Given the description of an element on the screen output the (x, y) to click on. 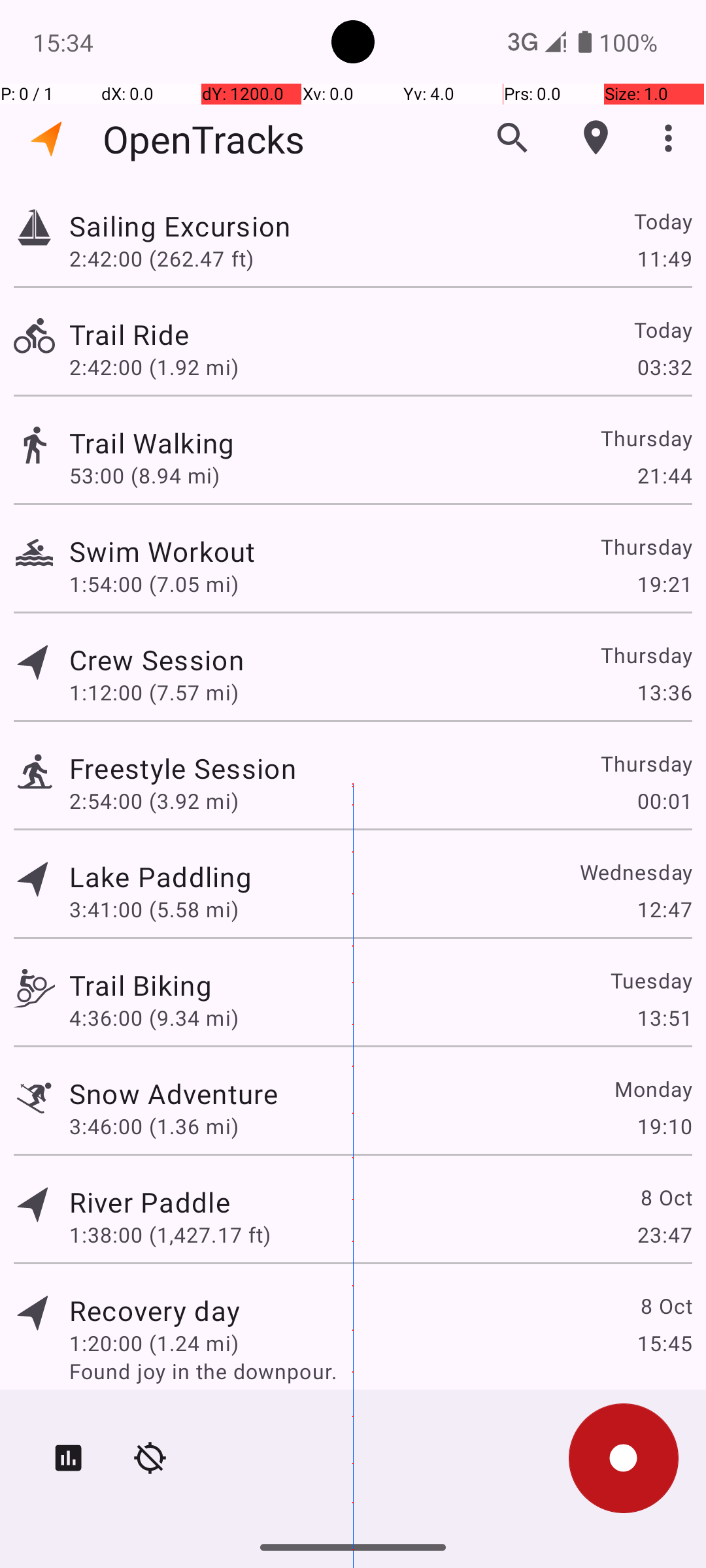
Record Element type: android.widget.ImageButton (623, 1458)
Track Element type: android.widget.ImageView (33, 227)
Sailing Excursion Element type: android.widget.TextView (179, 225)
Today Element type: android.widget.TextView (662, 221)
2:42:00 (262.47 ft) Element type: android.widget.TextView (161, 258)
11:49 Element type: android.widget.TextView (664, 258)
Trail Ride Element type: android.widget.TextView (128, 333)
2:42:00 (1.92 mi) Element type: android.widget.TextView (153, 366)
03:32 Element type: android.widget.TextView (664, 366)
Trail Walking Element type: android.widget.TextView (151, 442)
Thursday Element type: android.widget.TextView (645, 438)
53:00 (8.94 mi) Element type: android.widget.TextView (144, 475)
21:44 Element type: android.widget.TextView (664, 475)
Swim Workout Element type: android.widget.TextView (162, 550)
1:54:00 (7.05 mi) Element type: android.widget.TextView (153, 583)
19:21 Element type: android.widget.TextView (664, 583)
Crew Session Element type: android.widget.TextView (156, 659)
1:12:00 (7.57 mi) Element type: android.widget.TextView (153, 692)
13:36 Element type: android.widget.TextView (664, 692)
Freestyle Session Element type: android.widget.TextView (182, 767)
2:54:00 (3.92 mi) Element type: android.widget.TextView (153, 800)
00:01 Element type: android.widget.TextView (664, 800)
Lake Paddling Element type: android.widget.TextView (160, 876)
Wednesday Element type: android.widget.TextView (635, 871)
3:41:00 (5.58 mi) Element type: android.widget.TextView (153, 909)
12:47 Element type: android.widget.TextView (664, 909)
Trail Biking Element type: android.widget.TextView (140, 984)
Tuesday Element type: android.widget.TextView (650, 980)
4:36:00 (9.34 mi) Element type: android.widget.TextView (153, 1017)
13:51 Element type: android.widget.TextView (664, 1017)
Snow Adventure Element type: android.widget.TextView (173, 1092)
Monday Element type: android.widget.TextView (652, 1088)
3:46:00 (1.36 mi) Element type: android.widget.TextView (153, 1125)
19:10 Element type: android.widget.TextView (664, 1125)
River Paddle Element type: android.widget.TextView (149, 1201)
8 Oct Element type: android.widget.TextView (665, 1197)
1:38:00 (1,427.17 ft) Element type: android.widget.TextView (169, 1234)
23:47 Element type: android.widget.TextView (664, 1234)
Recovery day Element type: android.widget.TextView (154, 1309)
1:20:00 (1.24 mi) Element type: android.widget.TextView (153, 1342)
15:45 Element type: android.widget.TextView (664, 1342)
Found joy in the downpour. Element type: android.widget.TextView (380, 1370)
